Given the description of an element on the screen output the (x, y) to click on. 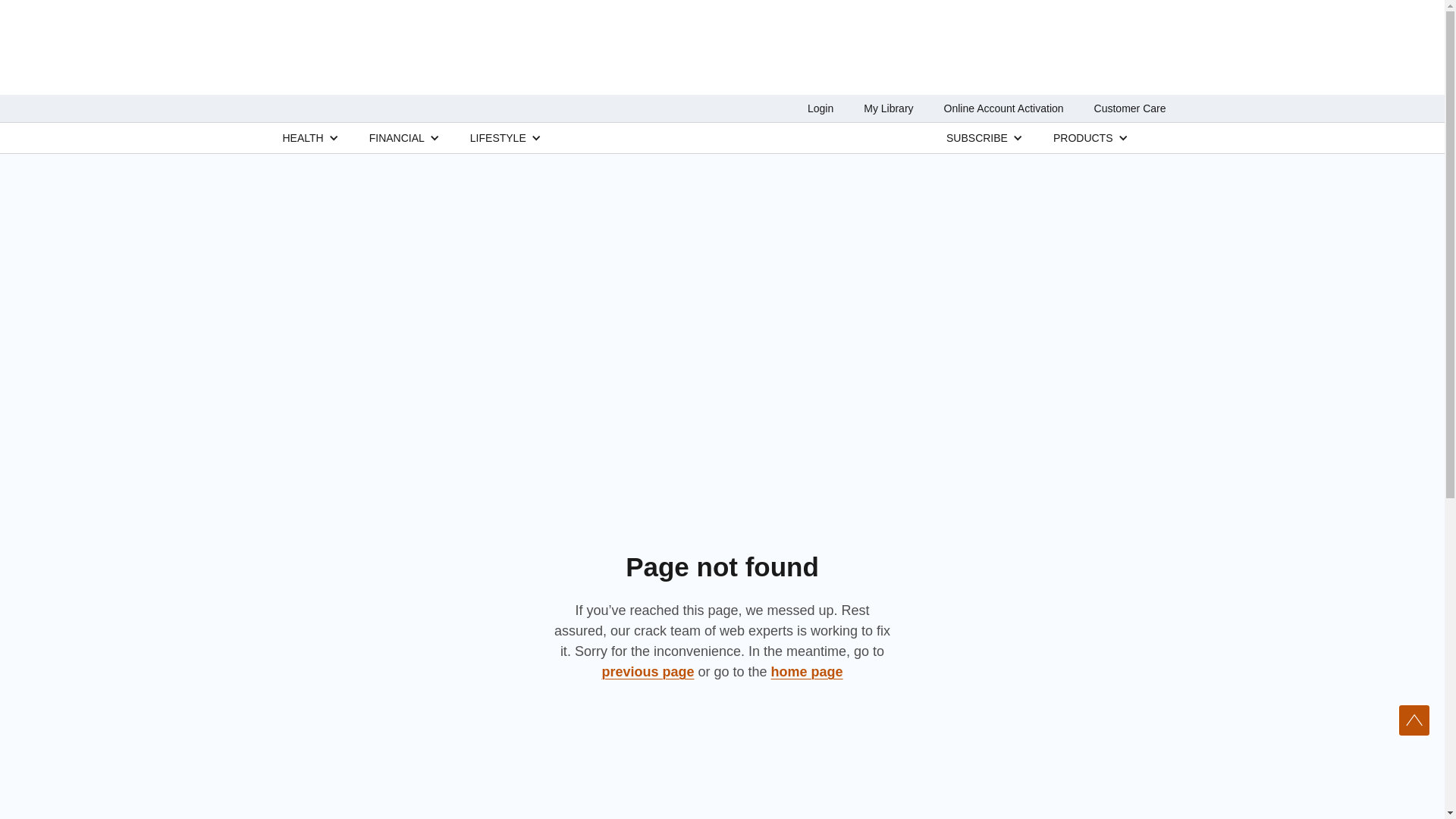
Scroll To Top (1414, 720)
Scroll To Top (1414, 720)
Login (820, 108)
My Library (887, 108)
FINANCIAL (397, 137)
HEALTH (302, 137)
Online Account Activation (1003, 108)
LIFESTYLE (497, 137)
Scroll To Top (1414, 720)
Customer Care (1130, 108)
